Given the description of an element on the screen output the (x, y) to click on. 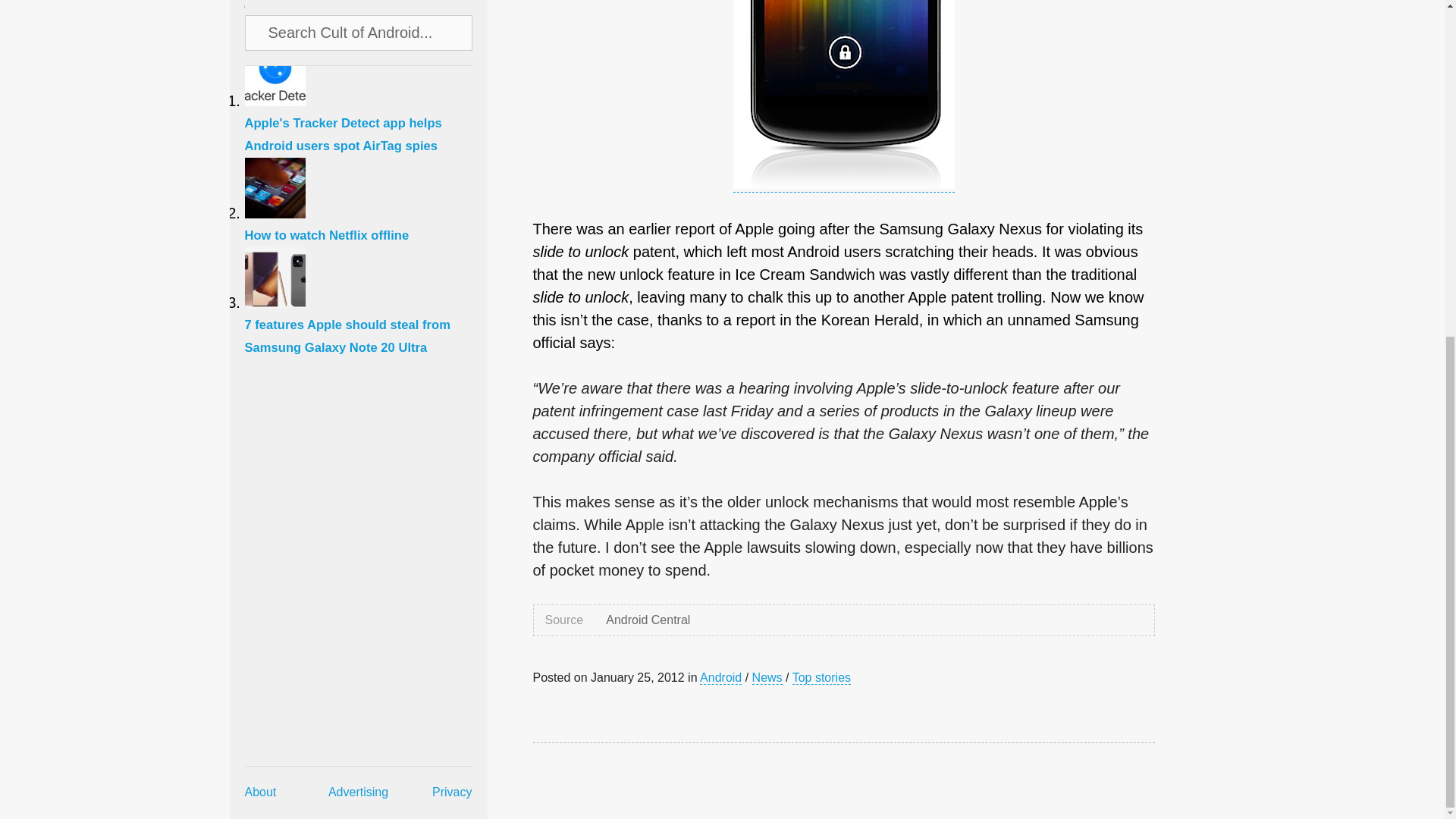
News (767, 677)
About (260, 225)
Android Central (647, 619)
Privacy (451, 225)
Advertising (358, 225)
Android (720, 677)
gnexunlock (842, 94)
Top stories (821, 677)
